Given the description of an element on the screen output the (x, y) to click on. 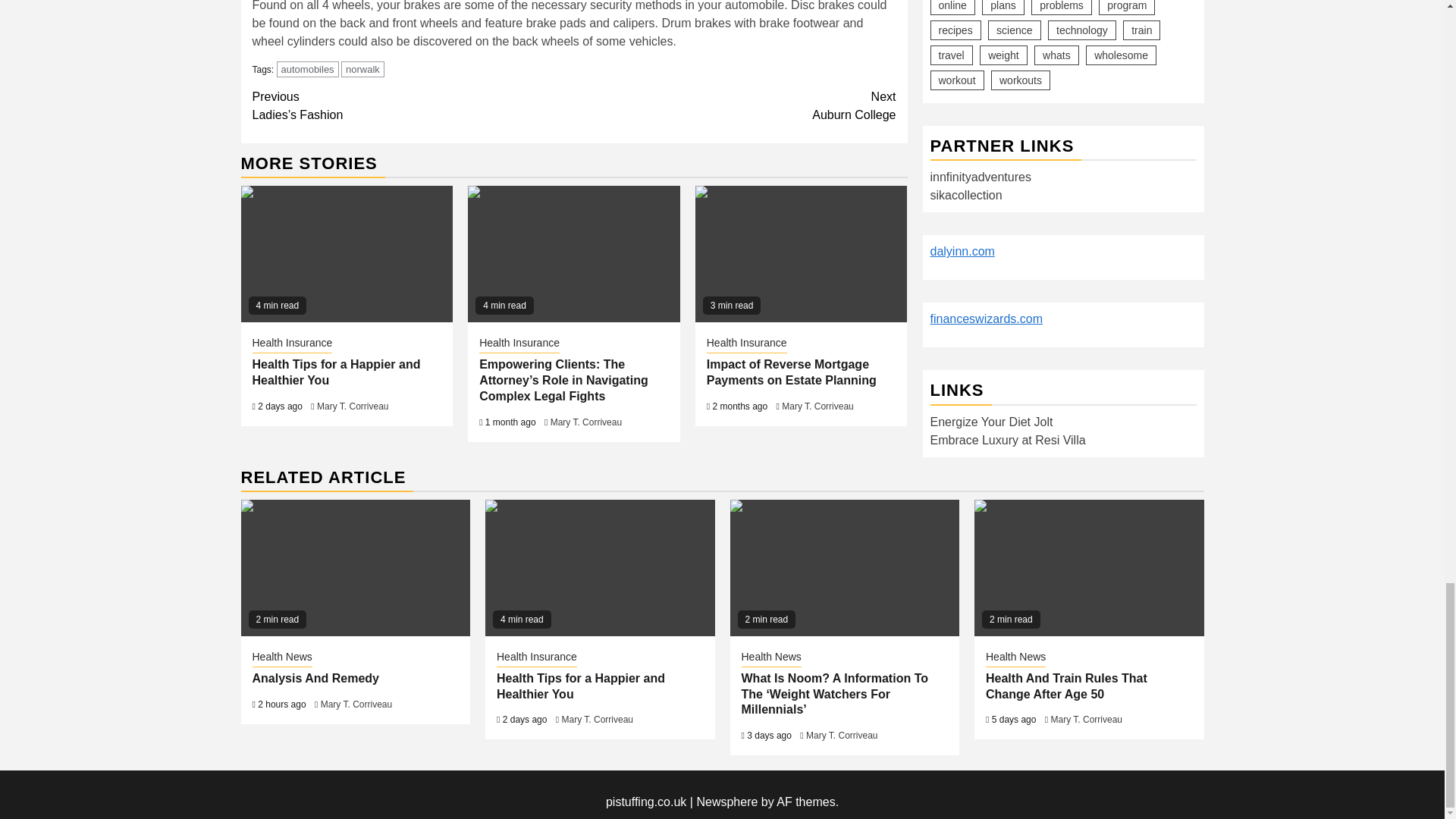
Health Tips for a Happier and Healthier You (346, 253)
Mary T. Corriveau (352, 406)
Impact of Reverse Mortgage Payments on Estate Planning (801, 253)
norwalk (734, 105)
Health Tips for a Happier and Healthier You (362, 68)
Health Insurance (335, 371)
automobiles (291, 343)
